Given the description of an element on the screen output the (x, y) to click on. 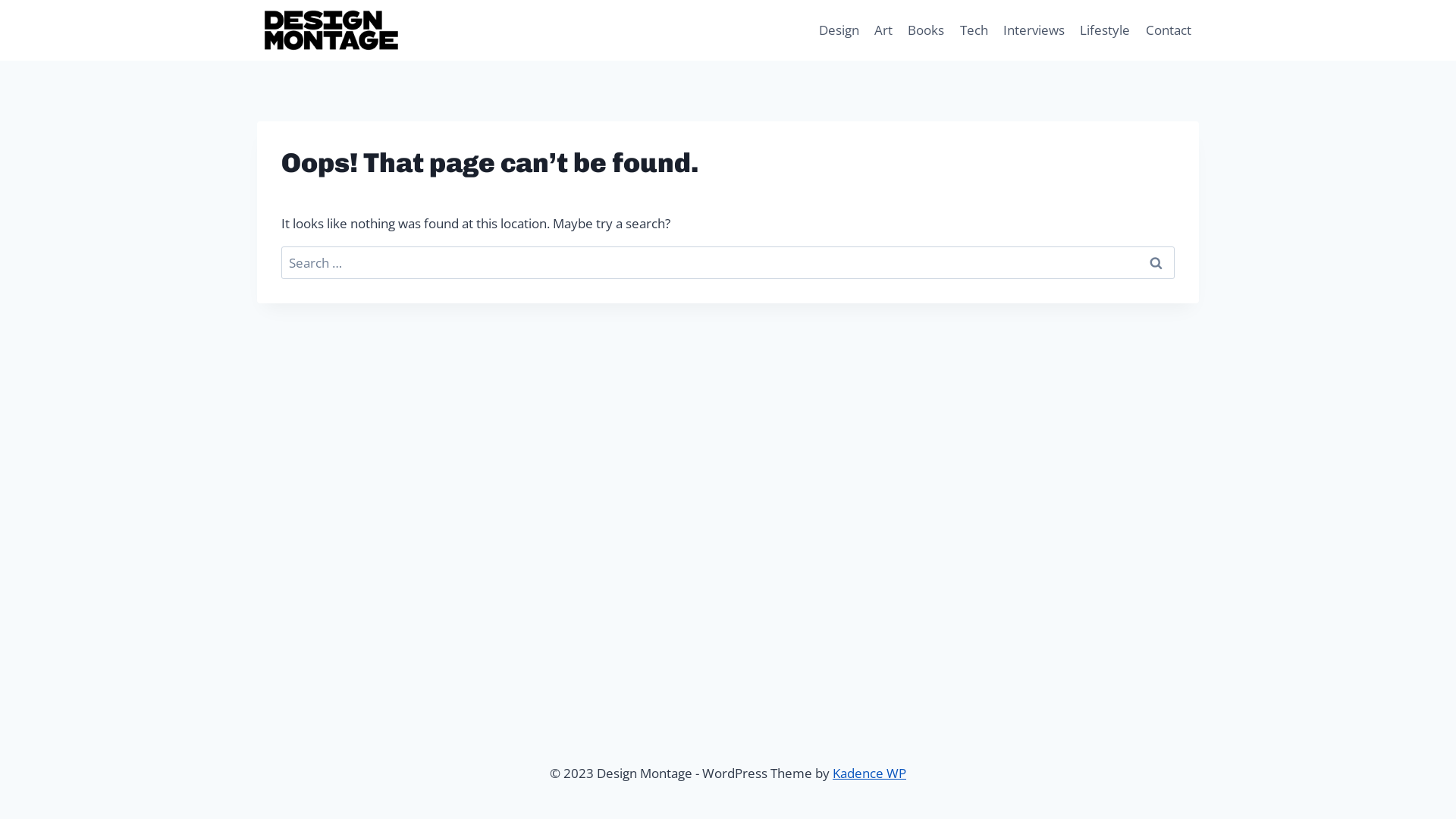
Kadence WP Element type: text (869, 772)
Books Element type: text (925, 30)
Tech Element type: text (973, 30)
Lifestyle Element type: text (1104, 30)
Design Element type: text (838, 30)
Art Element type: text (883, 30)
Interviews Element type: text (1033, 30)
Search Element type: text (1155, 262)
Contact Element type: text (1168, 30)
